Given the description of an element on the screen output the (x, y) to click on. 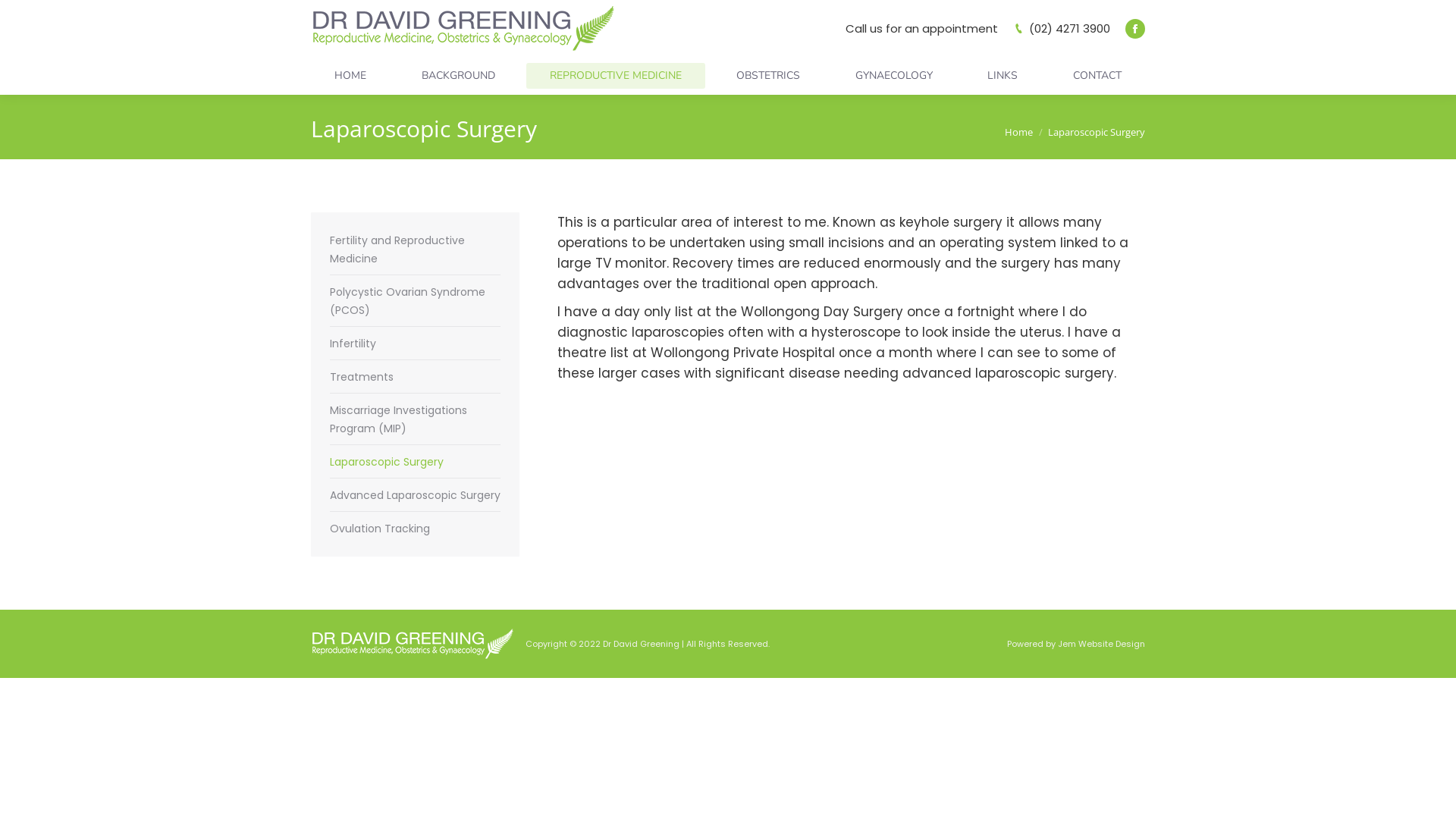
GYNAECOLOGY Element type: text (893, 75)
Facebook Element type: text (1135, 27)
Treatments Element type: text (361, 376)
HOME Element type: text (349, 75)
Jem Website Design Element type: text (1101, 643)
CONTACT Element type: text (1097, 75)
REPRODUCTIVE MEDICINE Element type: text (615, 75)
BACKGROUND Element type: text (457, 75)
Advanced Laparoscopic Surgery Element type: text (414, 495)
Polycystic Ovarian Syndrome (PCOS) Element type: text (414, 300)
Miscarriage Investigations Program (MIP) Element type: text (414, 419)
Ovulation Tracking Element type: text (379, 528)
LINKS Element type: text (1002, 75)
OBSTETRICS Element type: text (767, 75)
Infertility Element type: text (352, 343)
Laparoscopic Surgery Element type: text (386, 461)
Home Element type: text (1018, 131)
Fertility and Reproductive Medicine Element type: text (414, 249)
